Given the description of an element on the screen output the (x, y) to click on. 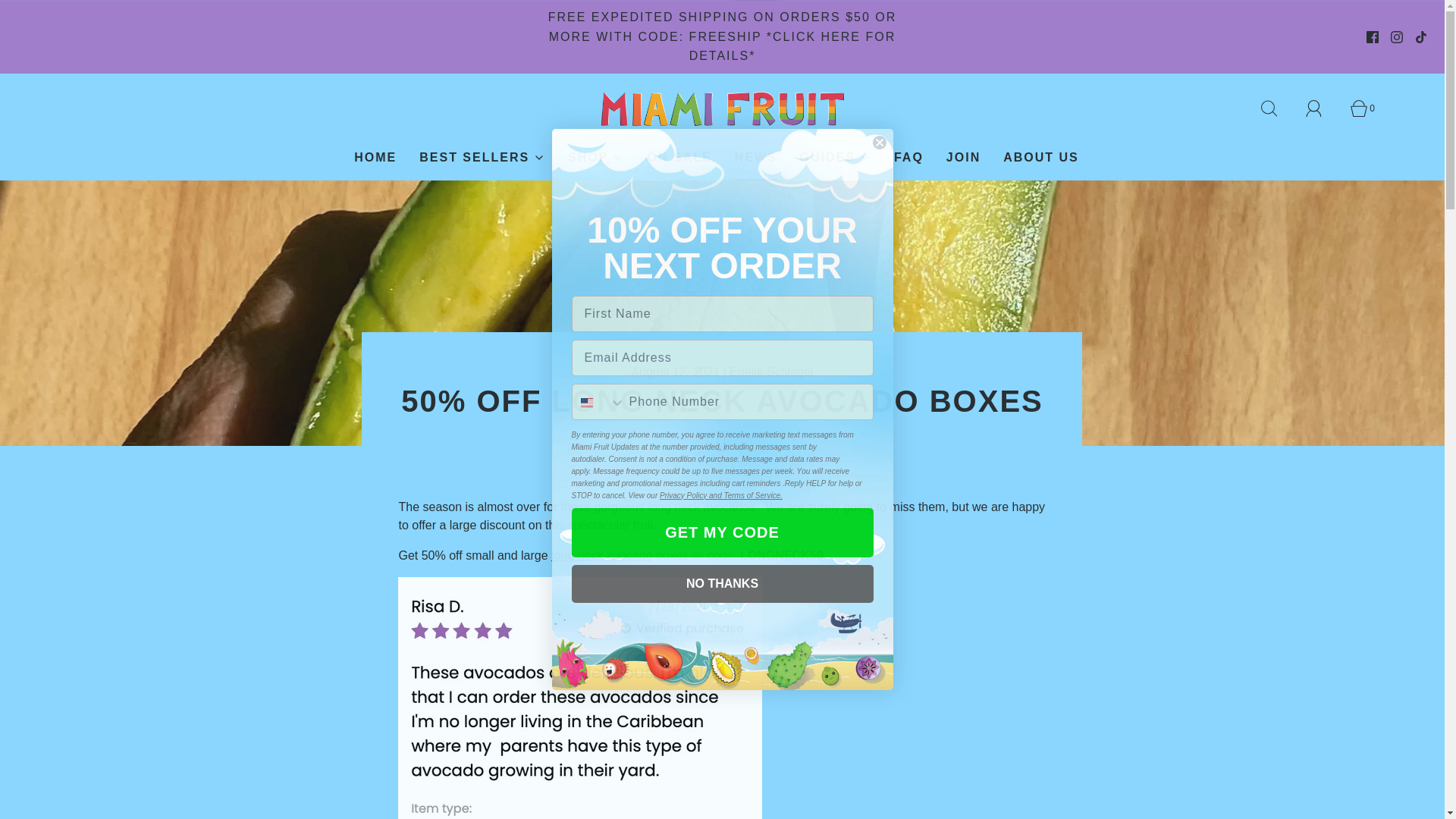
United States (586, 401)
INSTAGRAM ICON (1396, 37)
TIKTOK ICON (1420, 37)
INSTAGRAM ICON (1396, 37)
TIKTOK ICON (1420, 37)
Log in (1322, 108)
FACEBOOK ICON (1372, 37)
Cart (1367, 108)
FACEBOOK ICON (1372, 37)
Search (1277, 108)
